Given the description of an element on the screen output the (x, y) to click on. 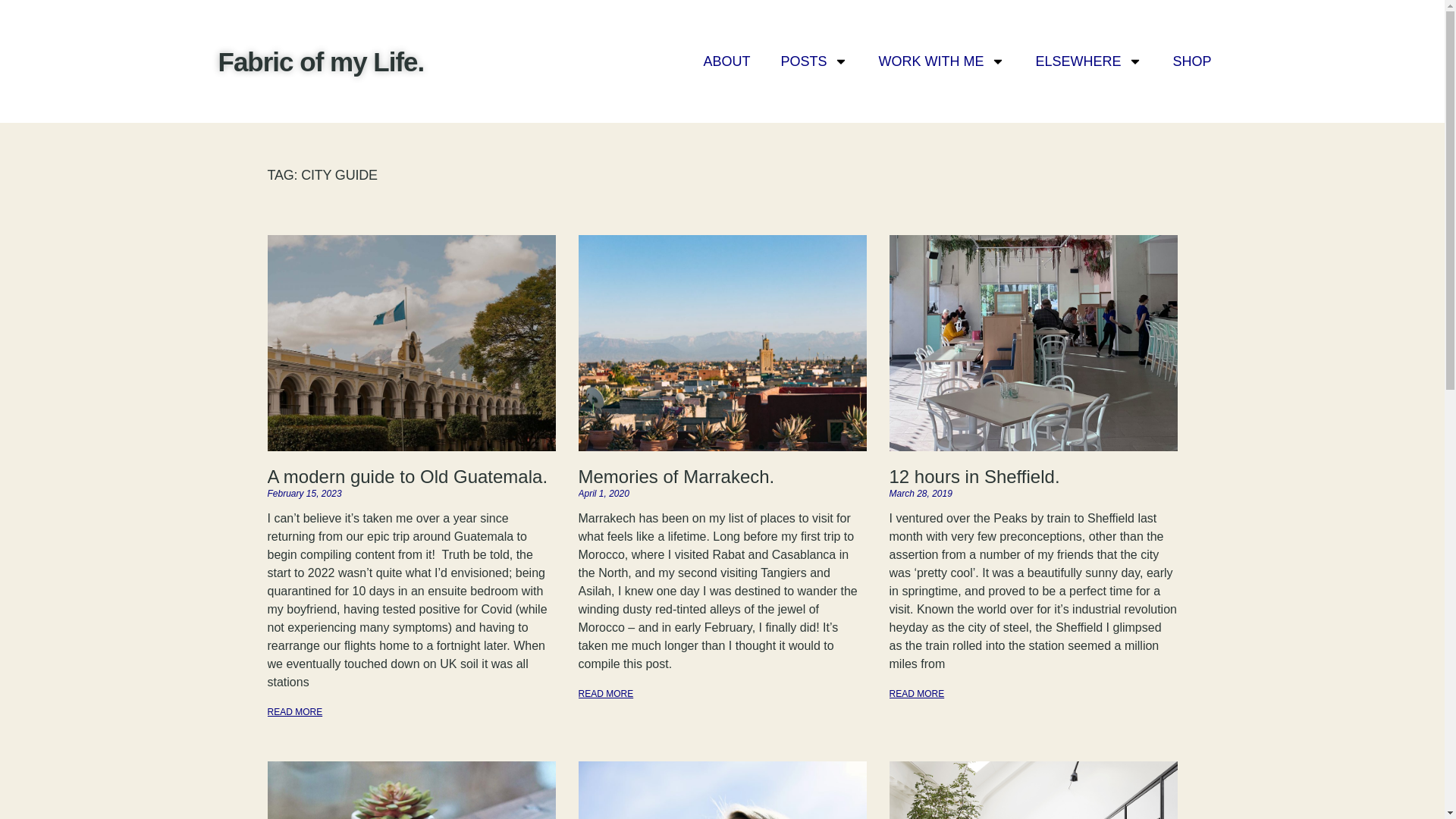
POSTS (814, 61)
WORK WITH ME (941, 61)
Fabric of my Life. (321, 61)
12 hours in Sheffield. (973, 476)
ABOUT (726, 61)
READ MORE (605, 693)
ELSEWHERE (1088, 61)
READ MORE (915, 693)
READ MORE (293, 711)
SHOP (1191, 61)
